Given the description of an element on the screen output the (x, y) to click on. 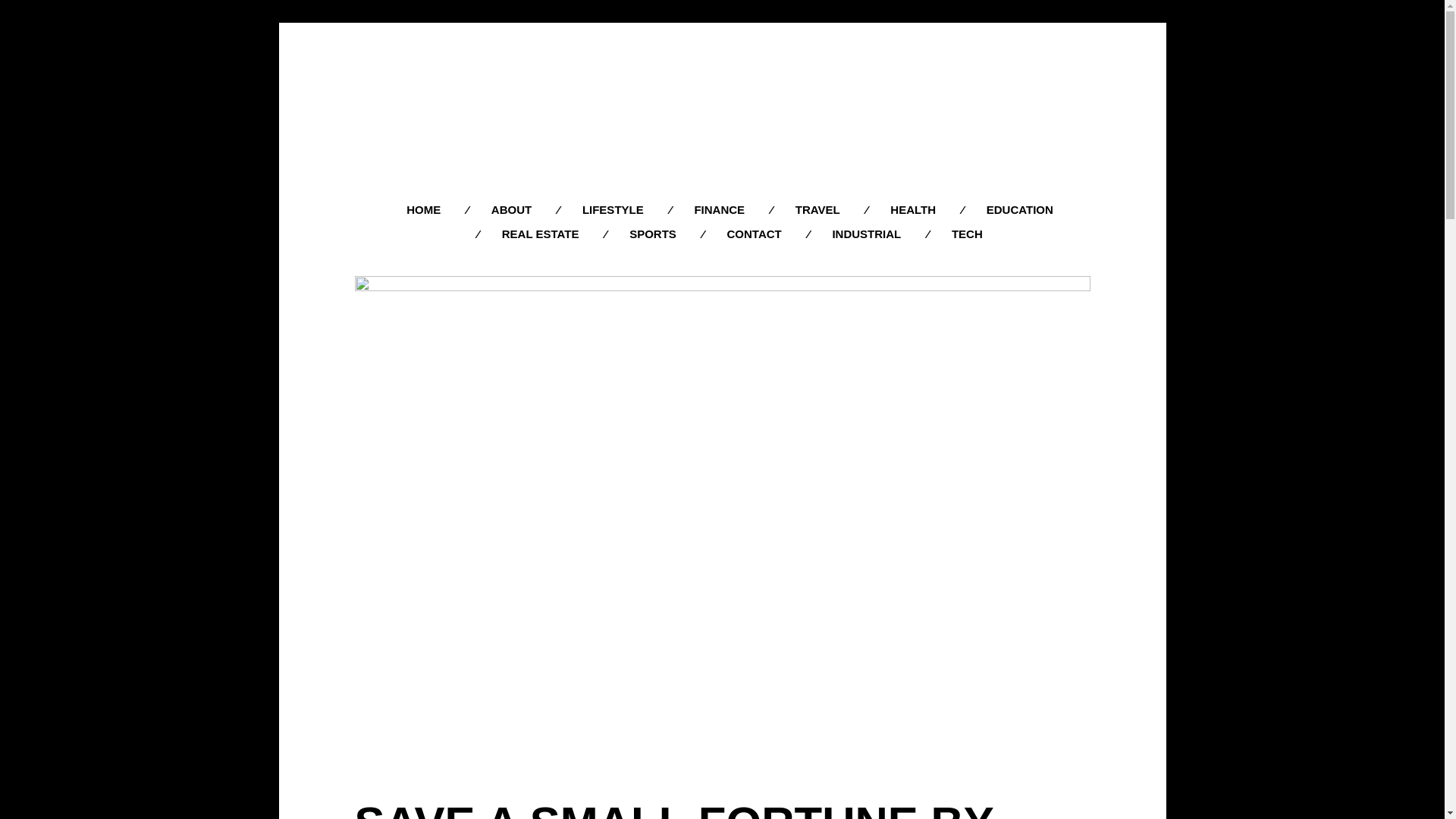
TECH (967, 233)
Home (721, 109)
CONTACT (754, 233)
LIFESTYLE (612, 209)
ABOUT (511, 209)
HOME (422, 209)
REAL ESTATE (540, 233)
INDUSTRIAL (866, 233)
EDUCATION (1019, 209)
FINANCE (718, 209)
SKIP TO CONTENT (733, 200)
SPORTS (652, 233)
TRAVEL (817, 209)
HEALTH (913, 209)
